Given the description of an element on the screen output the (x, y) to click on. 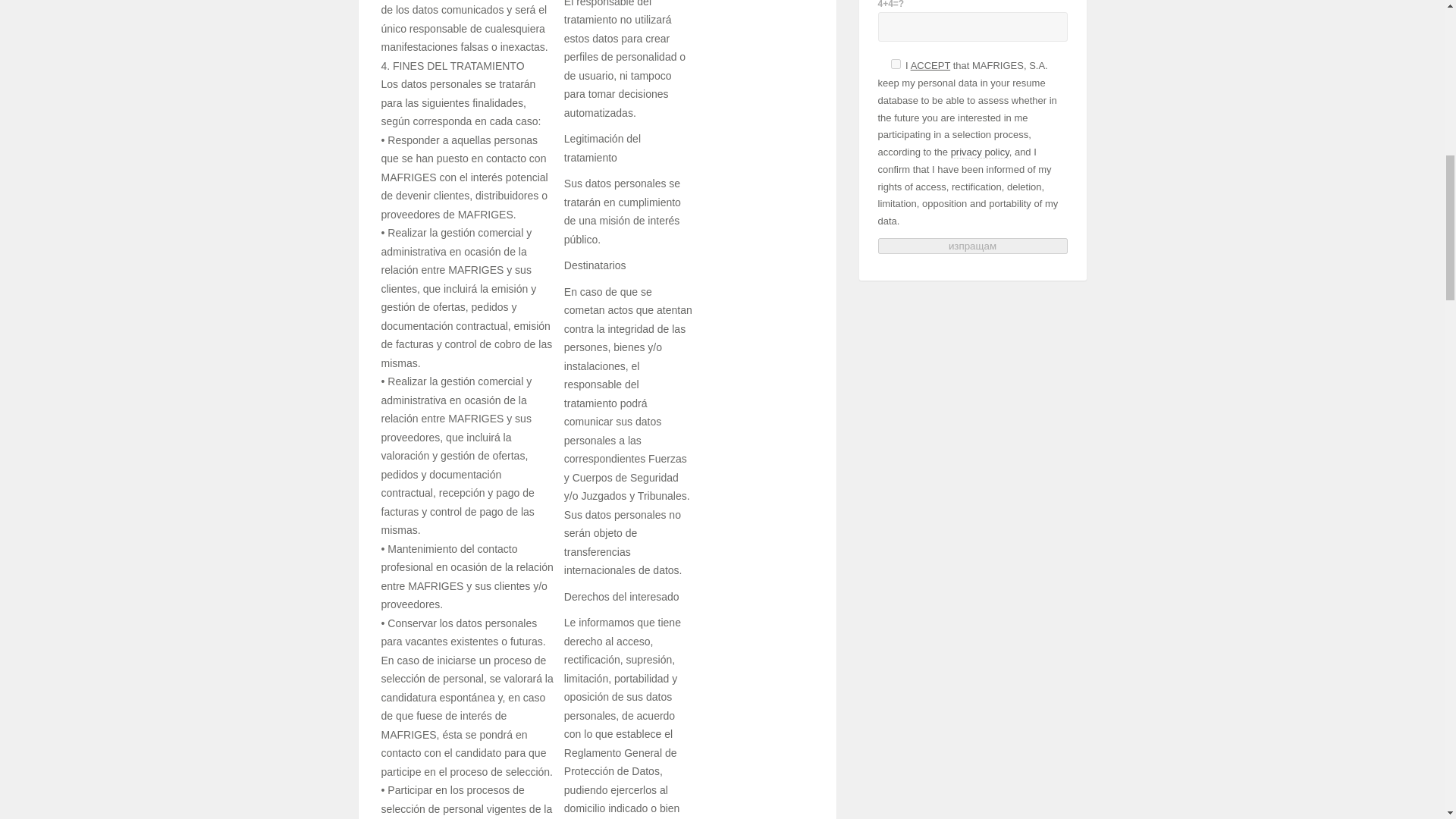
1 (894, 63)
